Given the description of an element on the screen output the (x, y) to click on. 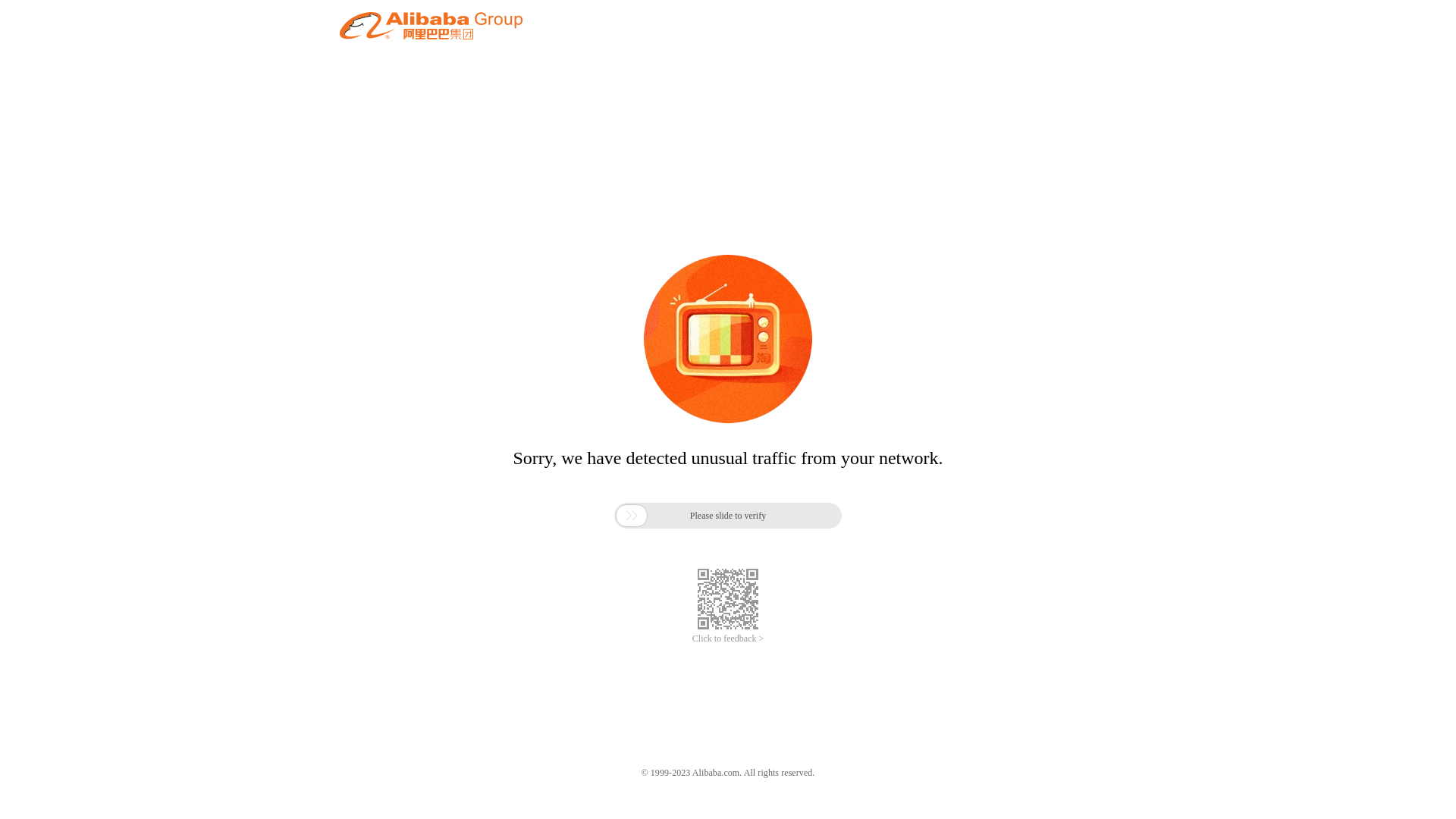
Click to feedback > Element type: text (727, 638)
